Given the description of an element on the screen output the (x, y) to click on. 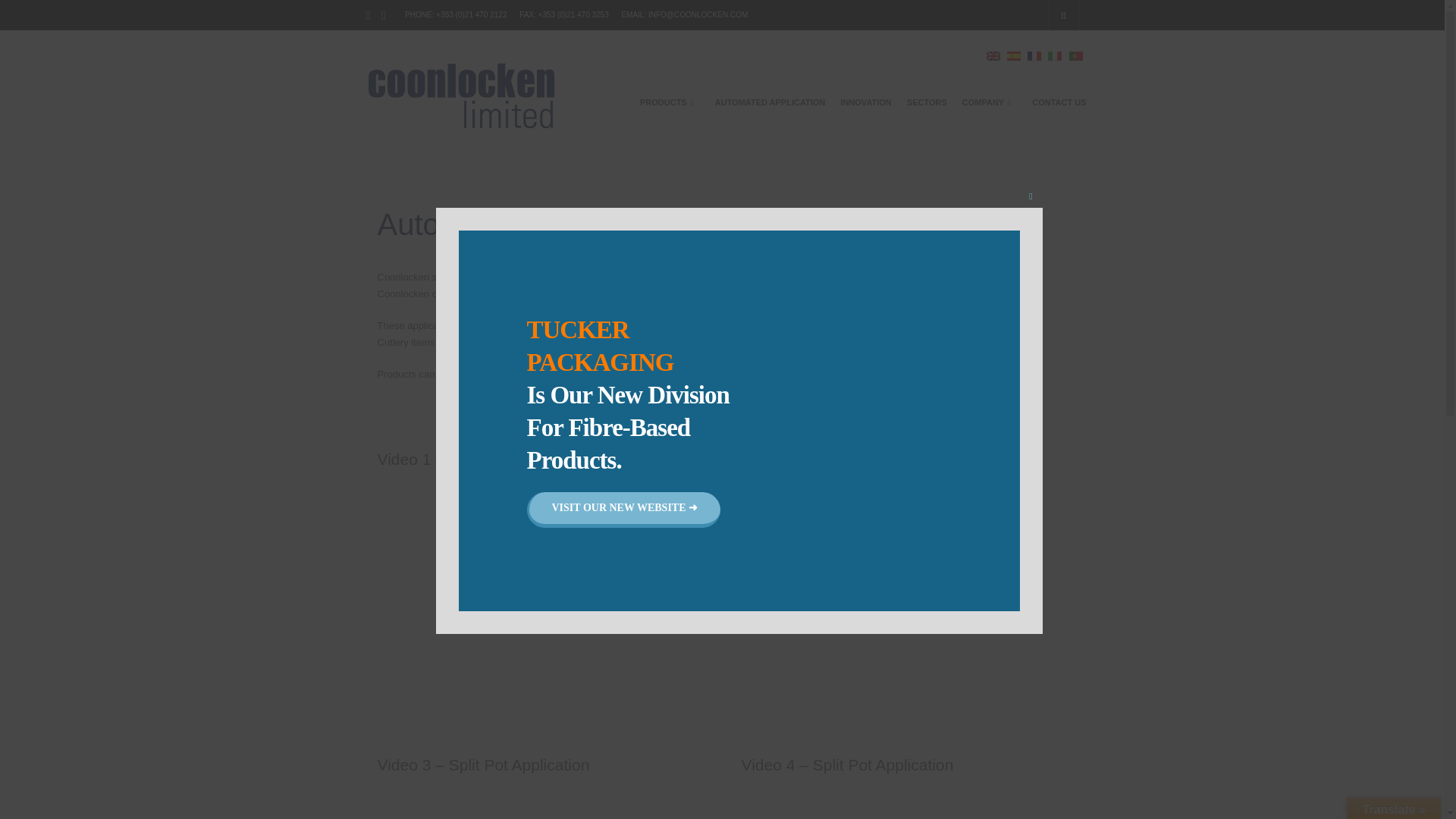
Italian (1054, 55)
INNOVATION (865, 101)
Top Application (912, 607)
contact us (879, 374)
Automated Application (548, 607)
CONTACT US (1059, 101)
COMPANY (984, 101)
AUTOMATED APPLICATION (769, 101)
Italian (1053, 54)
PRODUCTS (664, 101)
Portuguese (1075, 55)
SECTORS (927, 101)
here (636, 342)
